Given the description of an element on the screen output the (x, y) to click on. 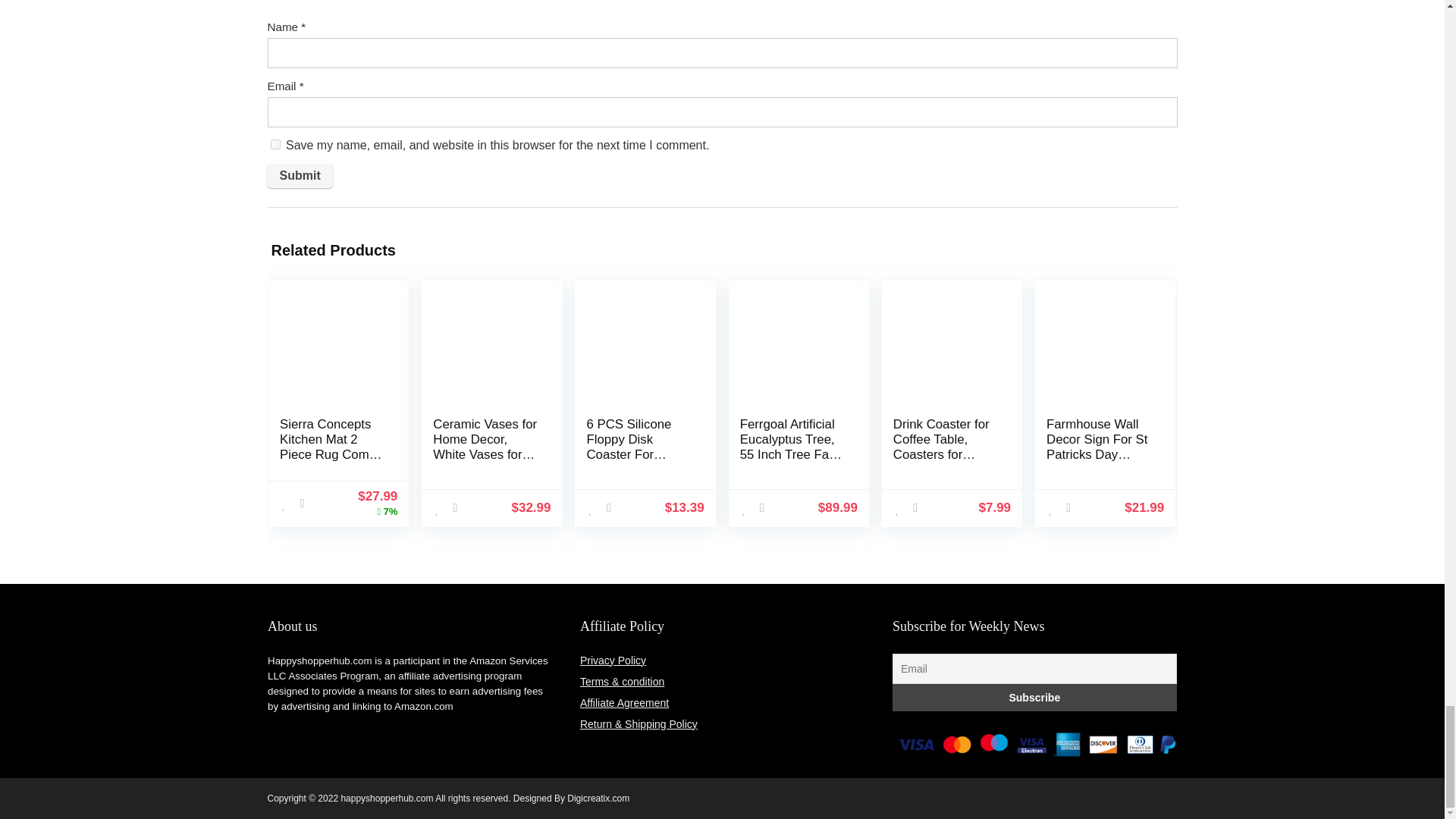
Subscribe (1034, 697)
yes (274, 144)
Submit (298, 175)
